Given the description of an element on the screen output the (x, y) to click on. 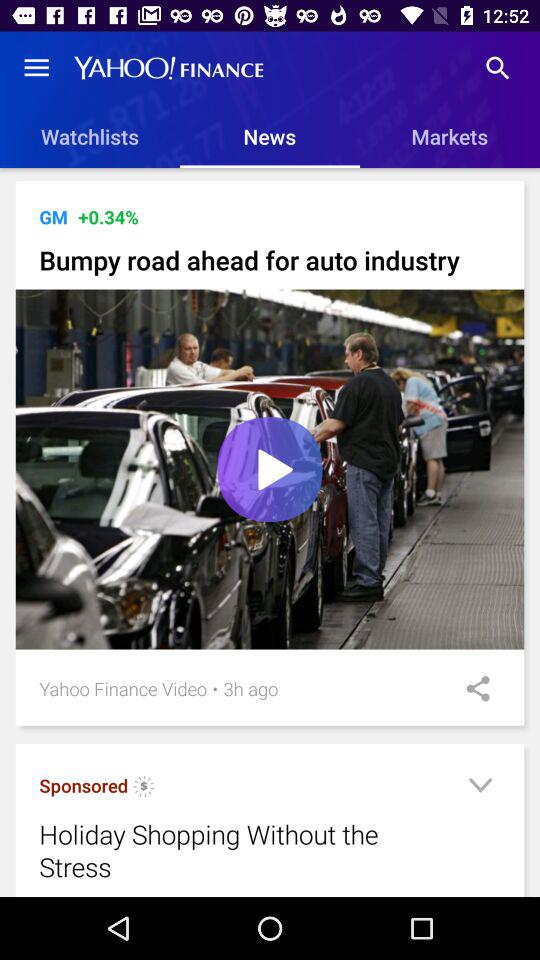
turn off the icon above bumpy road ahead icon (53, 216)
